Given the description of an element on the screen output the (x, y) to click on. 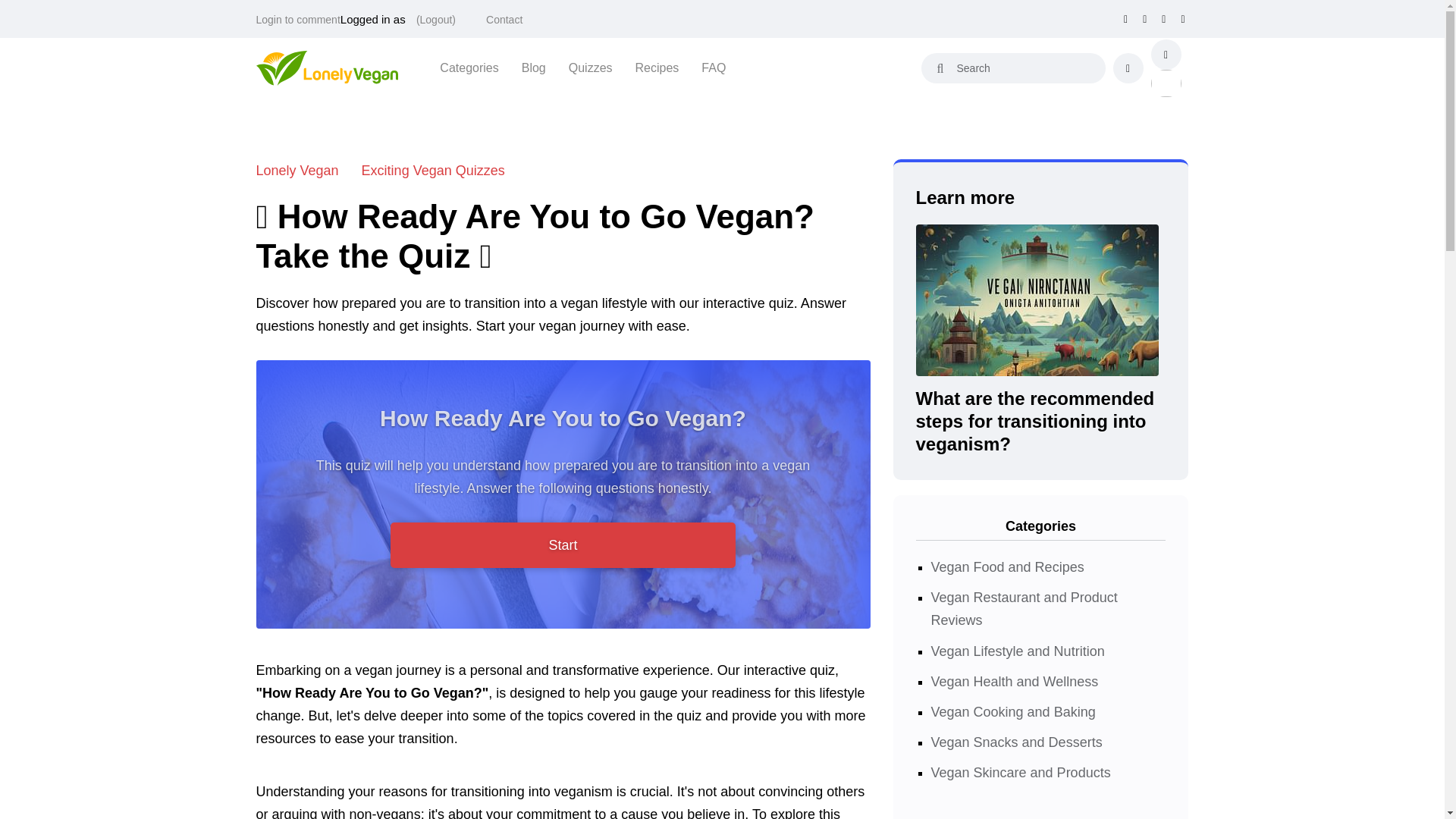
Categories (468, 67)
Contact (504, 19)
Login to comment (298, 19)
